Given the description of an element on the screen output the (x, y) to click on. 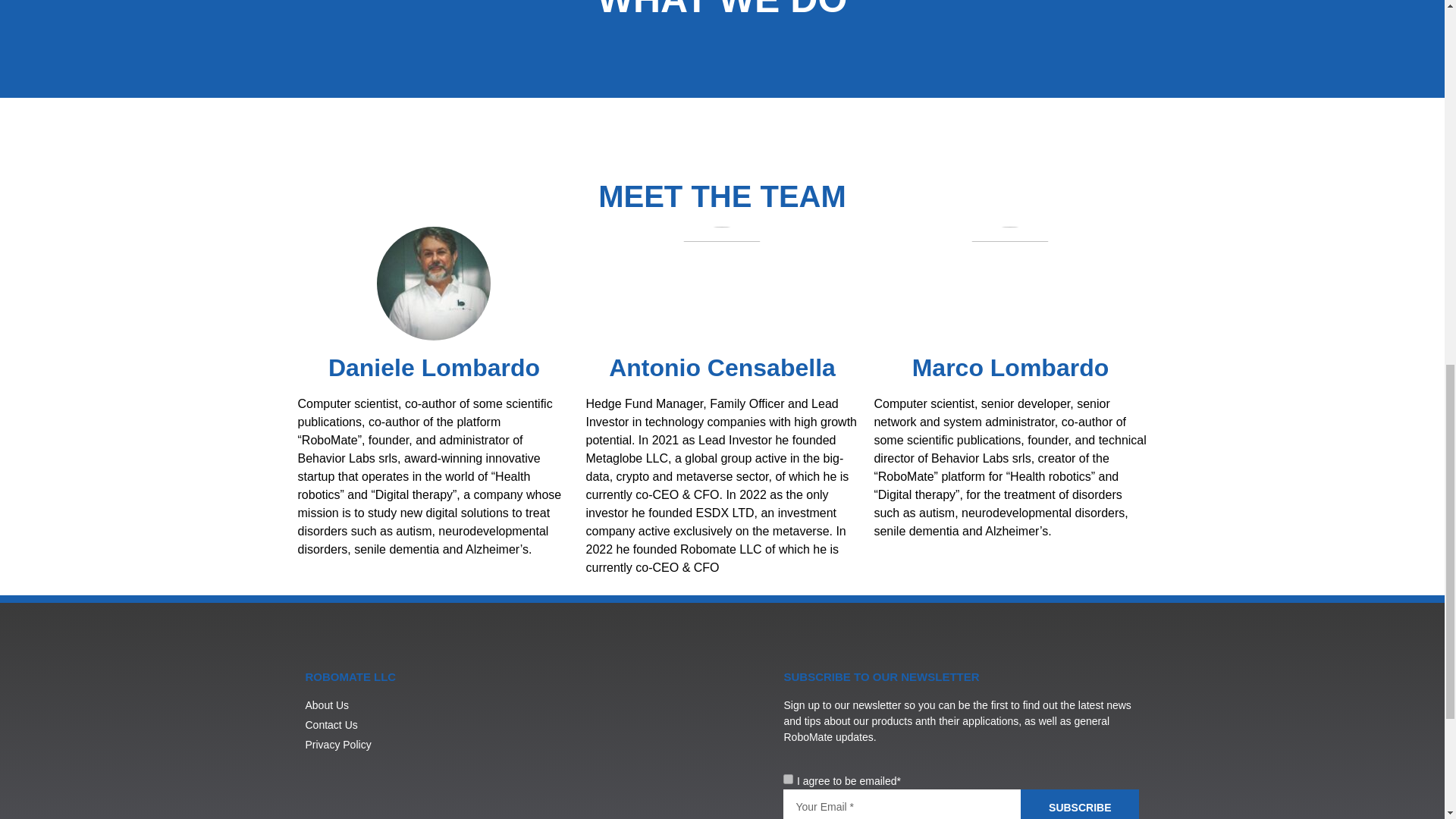
Contact Us (360, 725)
SUBSCRIBE (1079, 804)
on (788, 778)
About Us (360, 705)
Privacy Policy (360, 744)
